Given the description of an element on the screen output the (x, y) to click on. 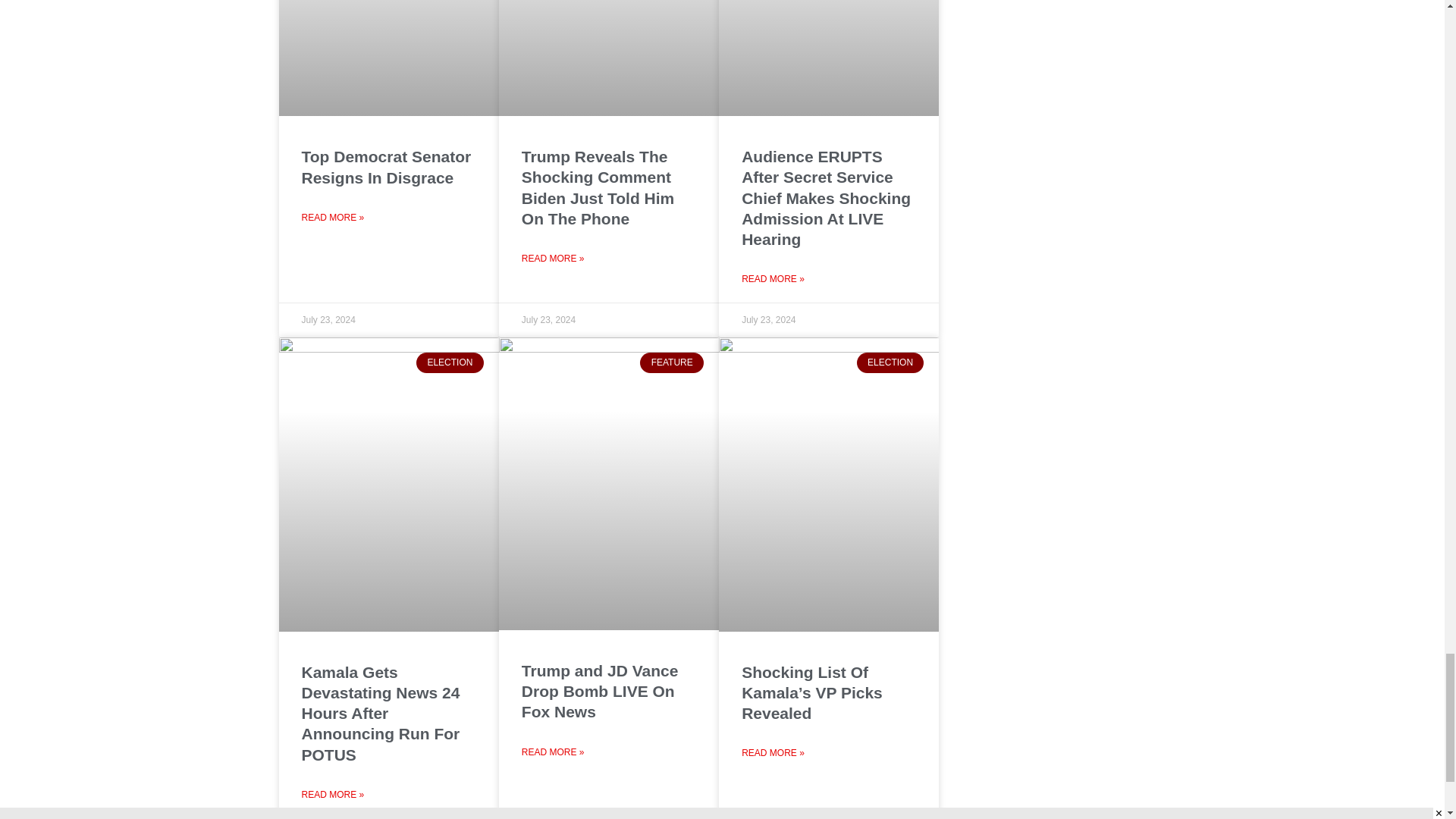
Top Democrat Senator Resigns In Disgrace (386, 166)
